Given the description of an element on the screen output the (x, y) to click on. 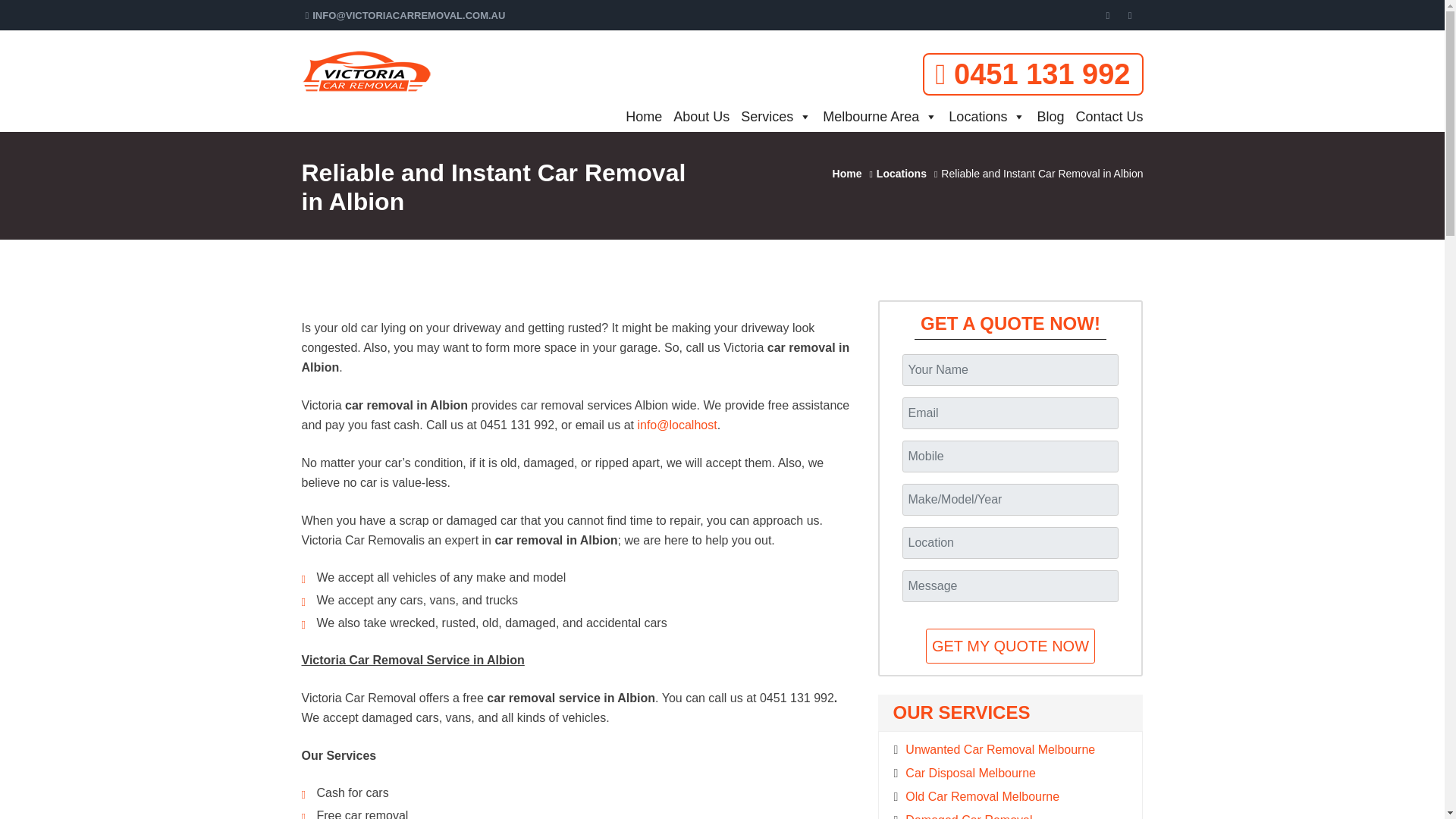
Melbourne Area (873, 116)
get My quote Now (1010, 645)
About Us (695, 116)
Locations (981, 116)
Home (638, 116)
Services (769, 116)
0451 131 992 (1032, 74)
